Given the description of an element on the screen output the (x, y) to click on. 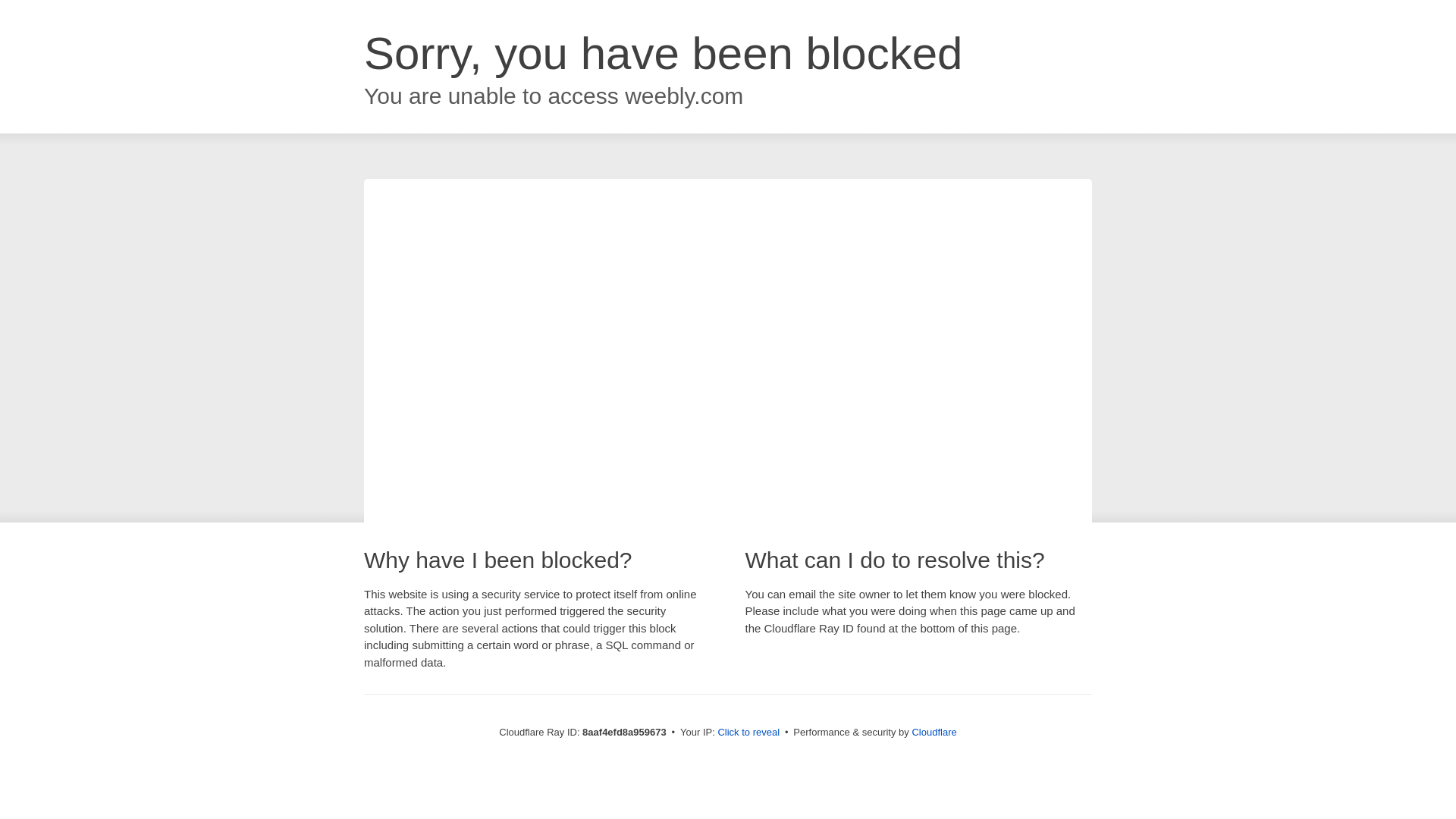
Click to reveal (747, 732)
Cloudflare (933, 731)
